Given the description of an element on the screen output the (x, y) to click on. 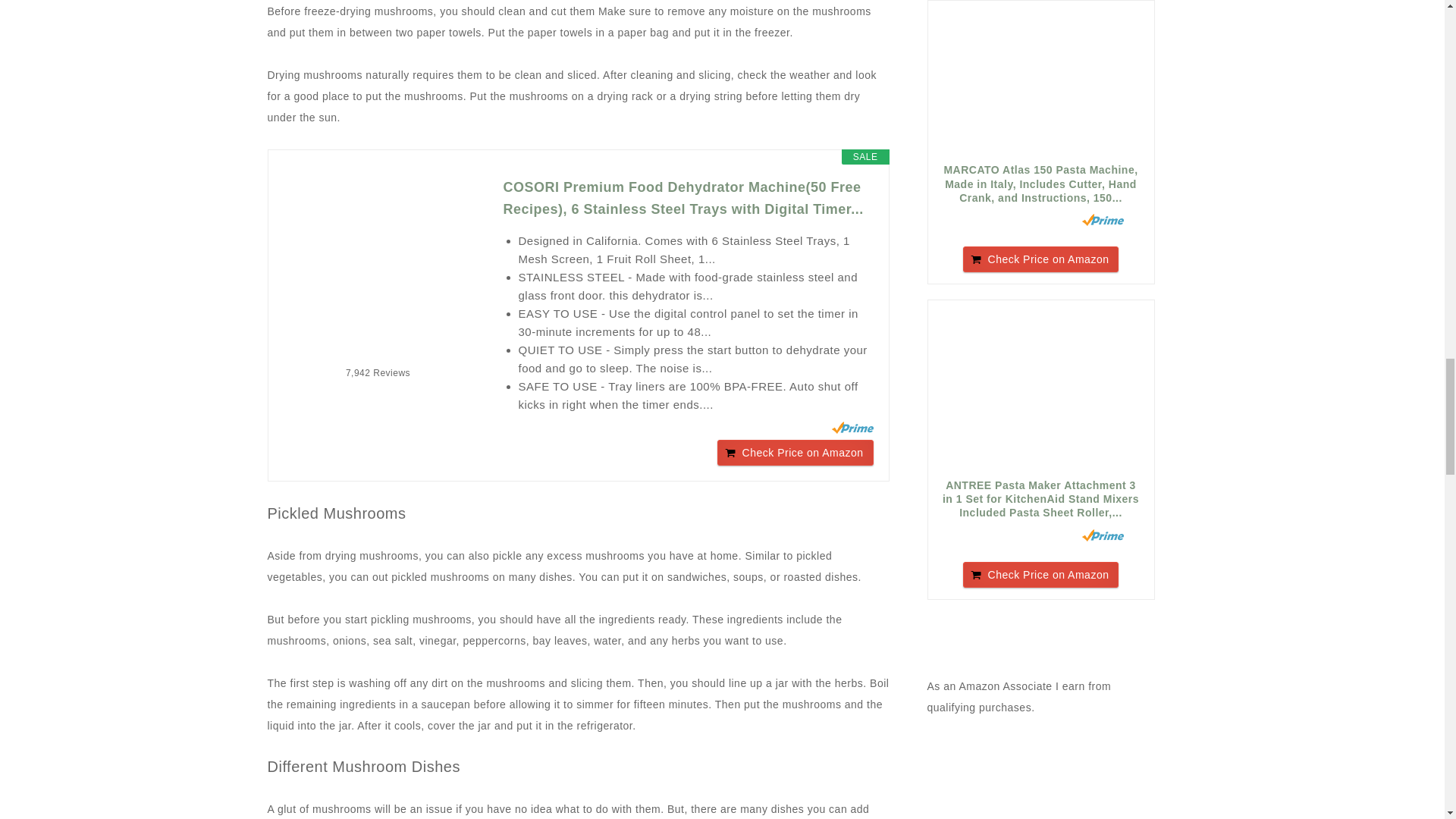
Check Price on Amazon (795, 452)
Reviews on Amazon (378, 350)
Check Price on Amazon (795, 452)
Amazon Prime (851, 427)
